Given the description of an element on the screen output the (x, y) to click on. 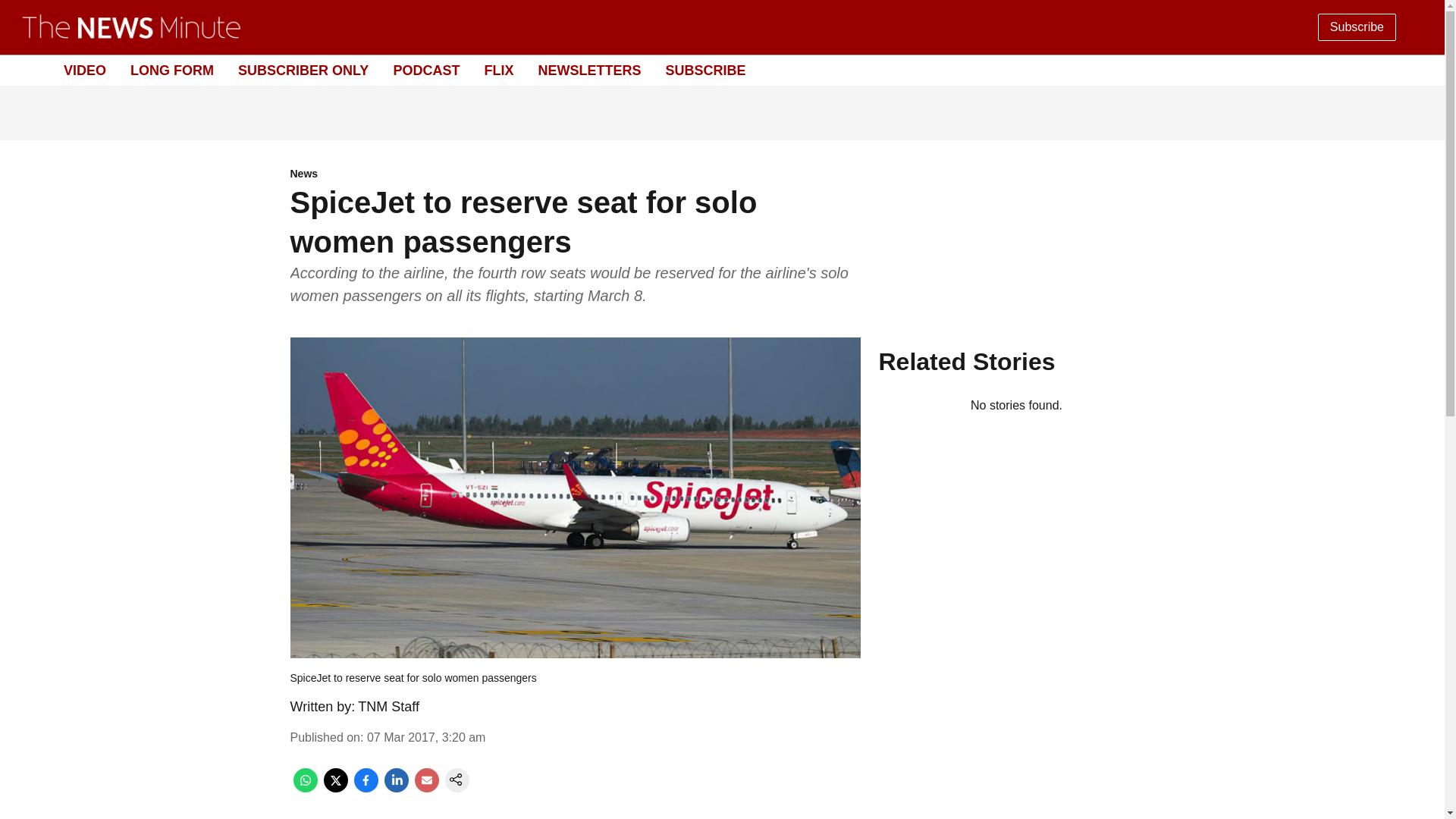
2017-03-07 03:20 (426, 737)
PODCAST (426, 70)
SUBSCRIBE (705, 70)
NEWSLETTERS (588, 70)
FLIX (498, 70)
VIDEO (85, 70)
TNM Staff (388, 706)
News (574, 174)
LONG FORM (172, 70)
